Given the description of an element on the screen output the (x, y) to click on. 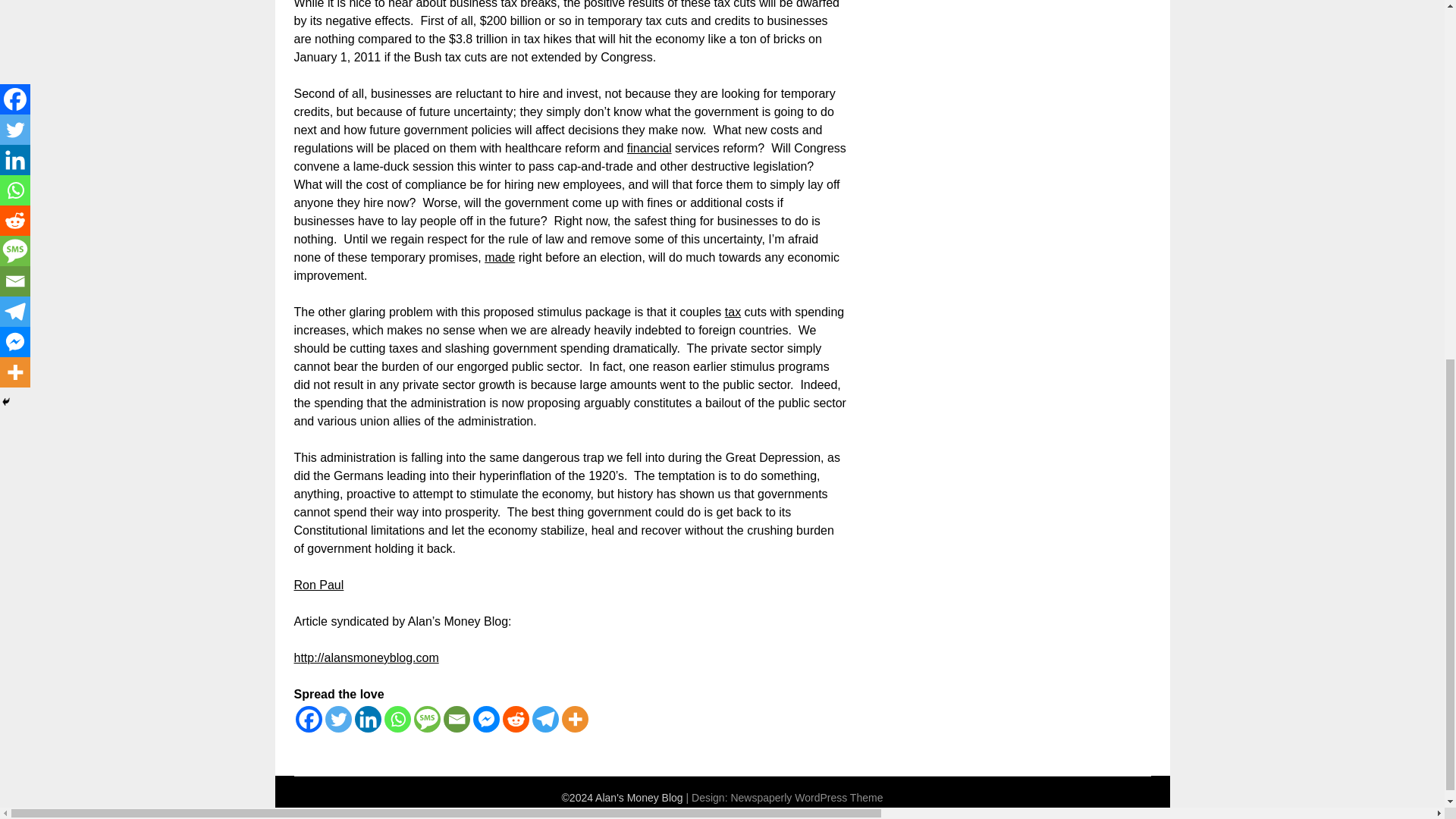
Whatsapp (397, 718)
Linkedin (368, 718)
Ron Paul (318, 584)
tax (733, 311)
More (574, 718)
Telegram (545, 718)
Newspaperly WordPress Theme (806, 797)
SMS (427, 718)
Facebook (308, 718)
Email (455, 718)
Twitter (337, 718)
made (499, 256)
financial (649, 147)
Reddit (515, 718)
